Given the description of an element on the screen output the (x, y) to click on. 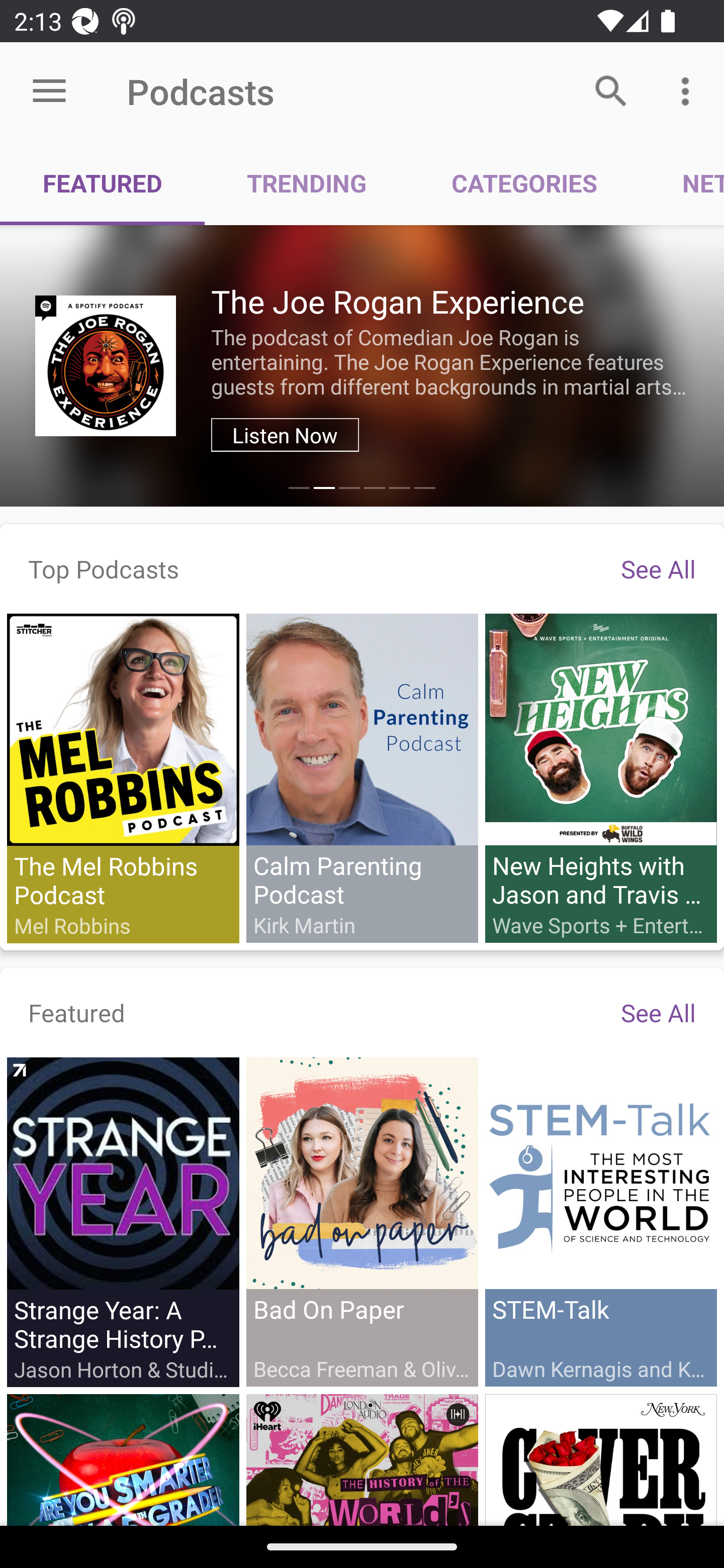
Open menu (49, 91)
Search (611, 90)
More options (688, 90)
FEATURED (102, 183)
TRENDING (306, 183)
CATEGORIES (524, 183)
Top Podcasts (103, 567)
See All (658, 567)
The Mel Robbins Podcast Mel Robbins (123, 778)
Calm Parenting Podcast Kirk Martin (361, 777)
Featured (76, 1011)
See All (658, 1011)
Bad On Paper Becca Freeman & Olivia Muenter (361, 1221)
STEM-Talk Dawn Kernagis and Ken Ford (600, 1221)
